Given the description of an element on the screen output the (x, y) to click on. 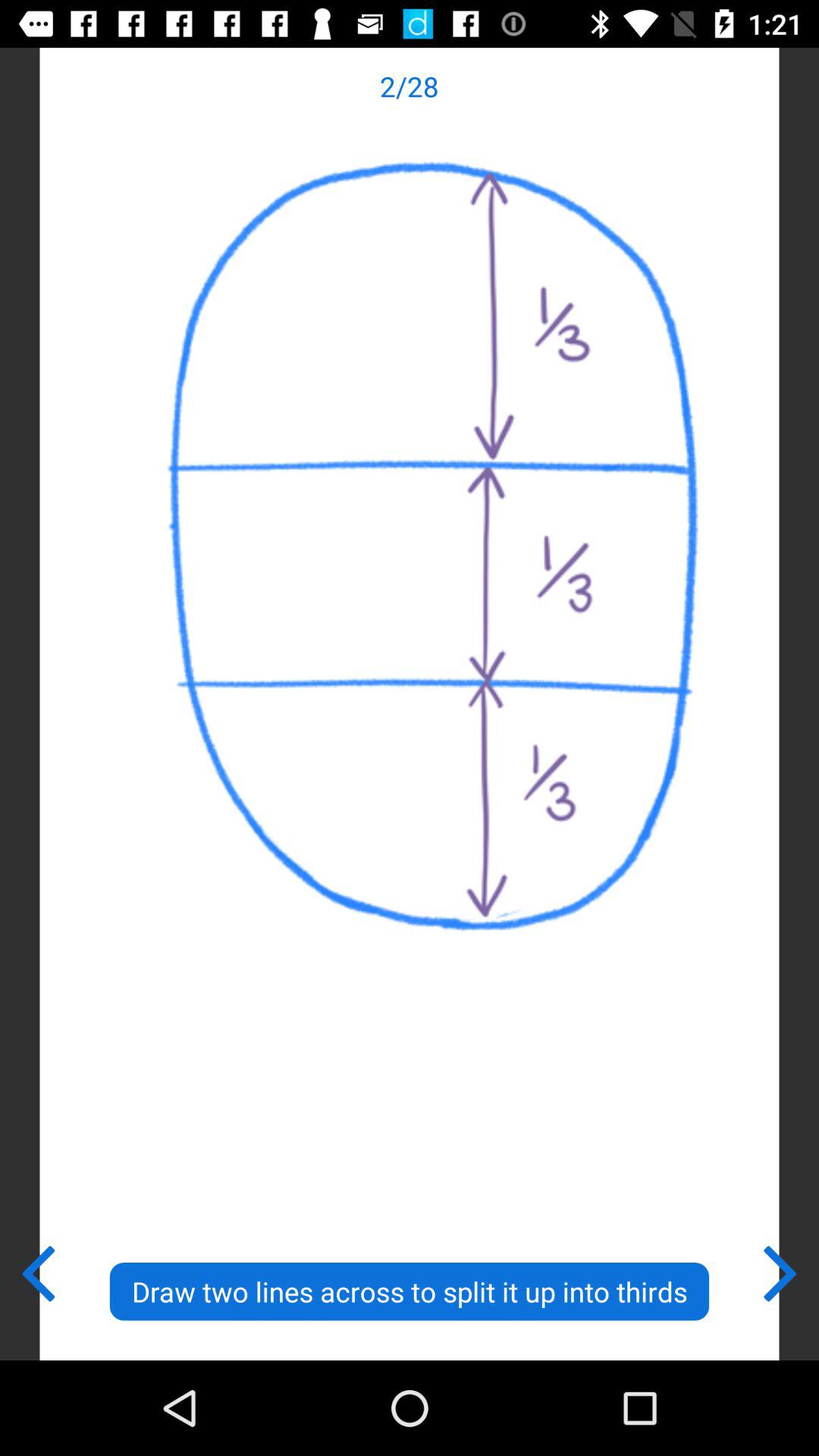
open item at the bottom left corner (37, 1270)
